Given the description of an element on the screen output the (x, y) to click on. 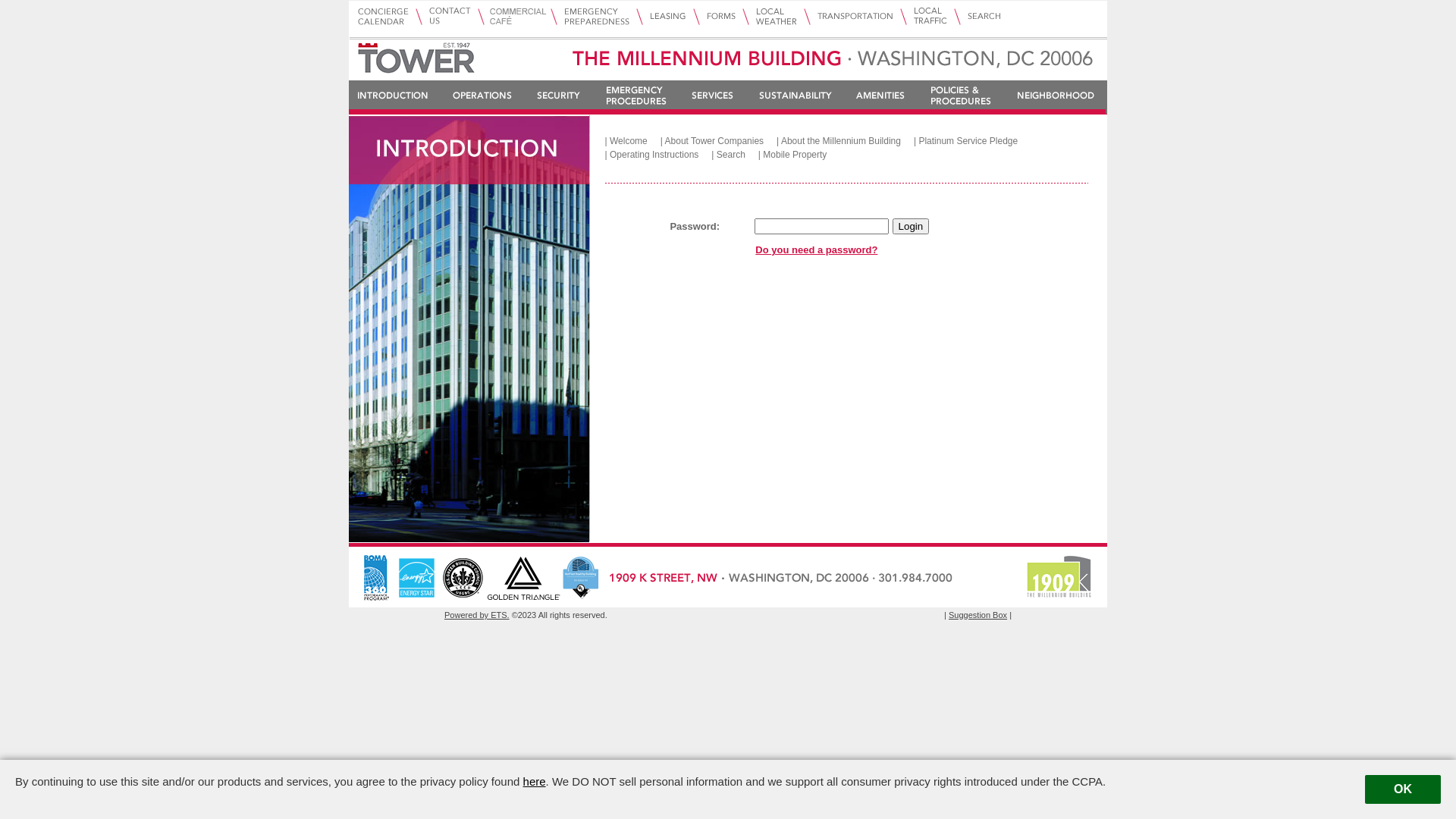
Suggestion Box Element type: text (977, 614)
Operating Instructions Element type: text (658, 154)
Powered by ETS. Element type: text (476, 614)
About the Millennium Building Element type: text (845, 140)
Welcome Element type: text (633, 140)
Login Element type: text (910, 226)
About Tower Companies Element type: text (719, 140)
here Element type: text (534, 781)
Mobile Property Element type: text (799, 154)
Do you need a password? Element type: text (816, 249)
Platinum Service Pledge Element type: text (972, 140)
Search Element type: text (735, 154)
